Given the description of an element on the screen output the (x, y) to click on. 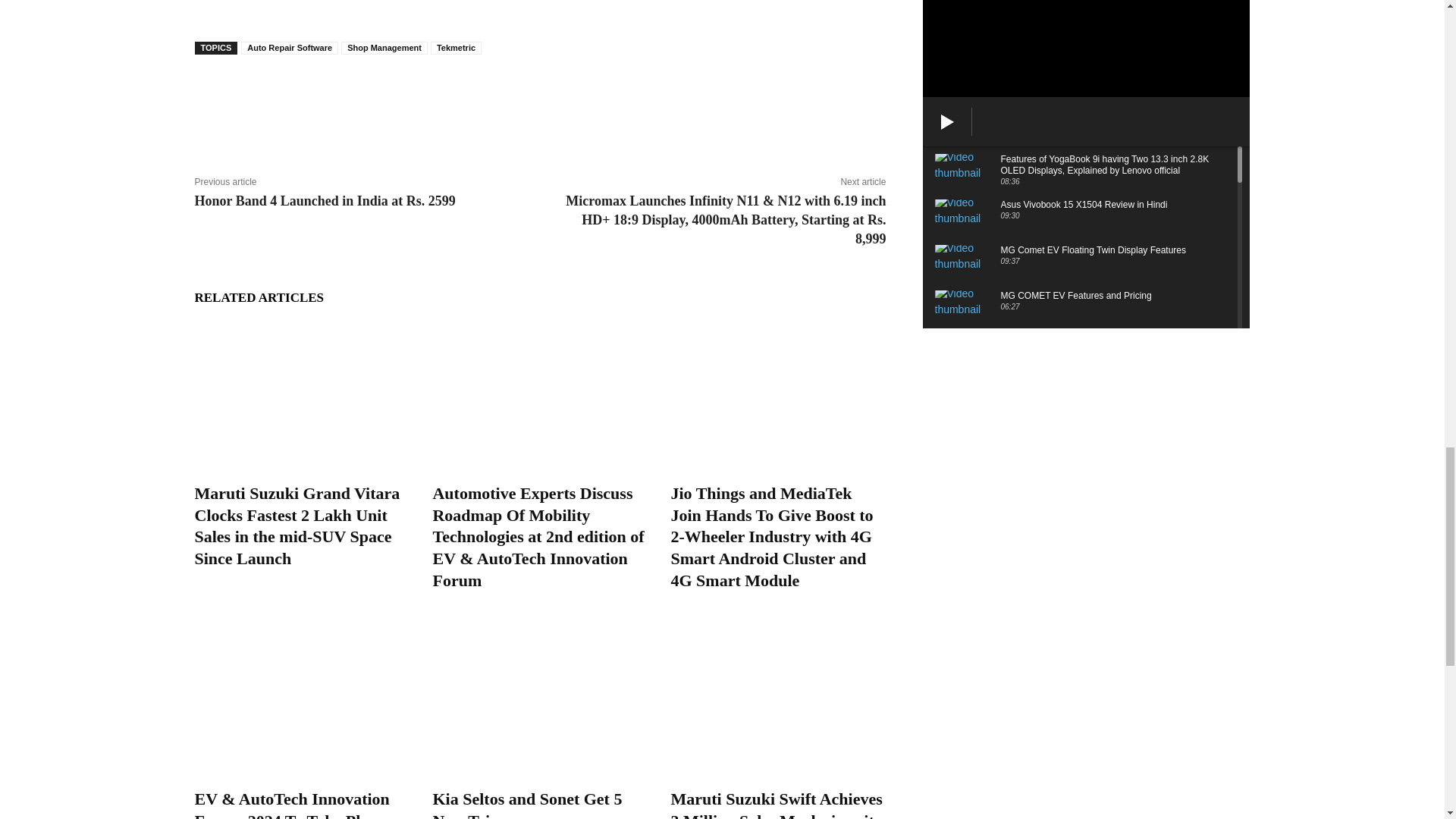
Auto Repair Software (289, 47)
Shop Management (384, 47)
Tekmetric (455, 47)
